Given the description of an element on the screen output the (x, y) to click on. 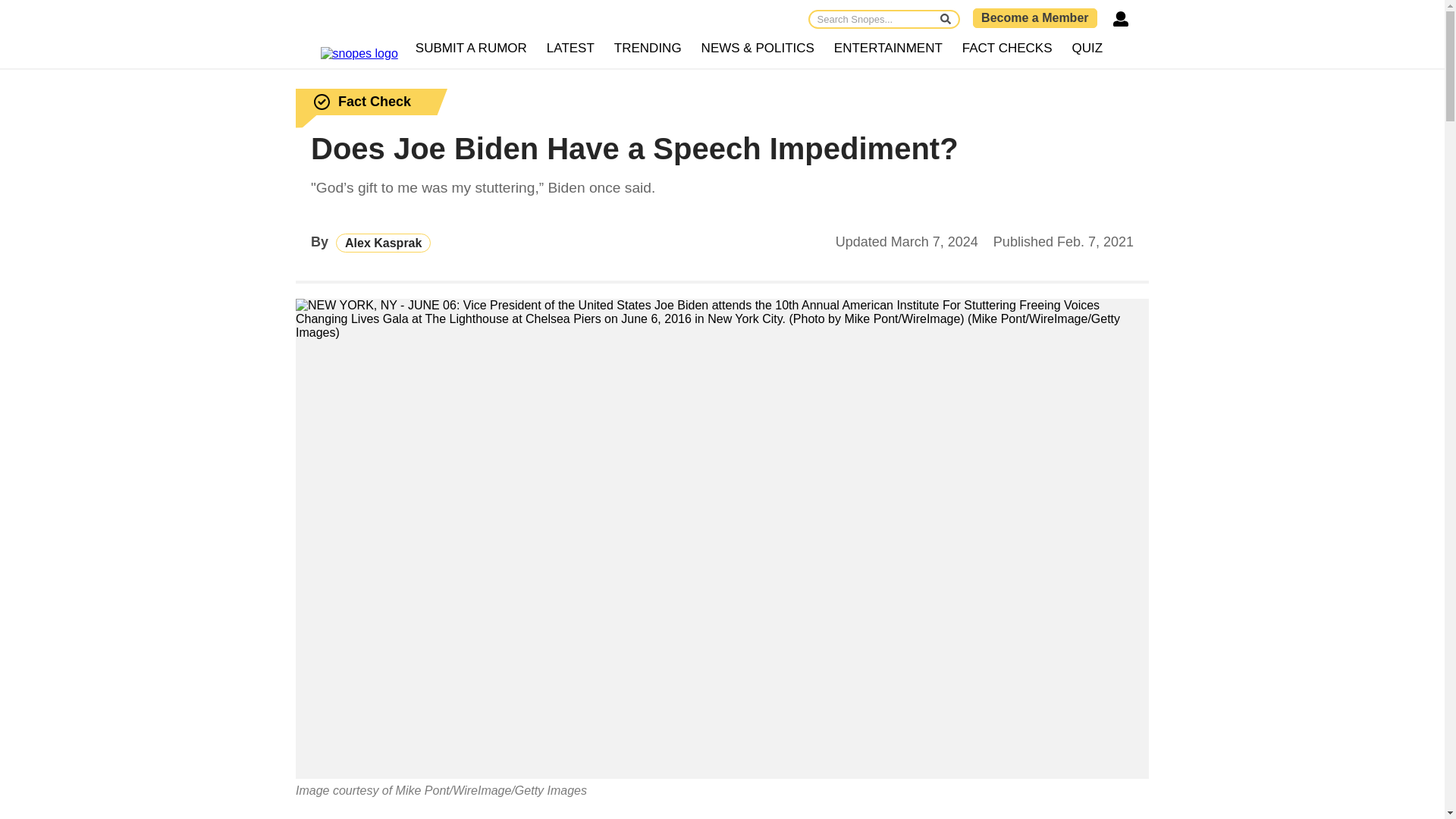
Alex Kasprak (383, 242)
QUIZ (1087, 47)
SUBMIT A RUMOR (471, 47)
ENTERTAINMENT (887, 47)
Become a Member (1034, 17)
FACT CHECKS (1007, 47)
TRENDING (647, 47)
LATEST (570, 47)
